Given the description of an element on the screen output the (x, y) to click on. 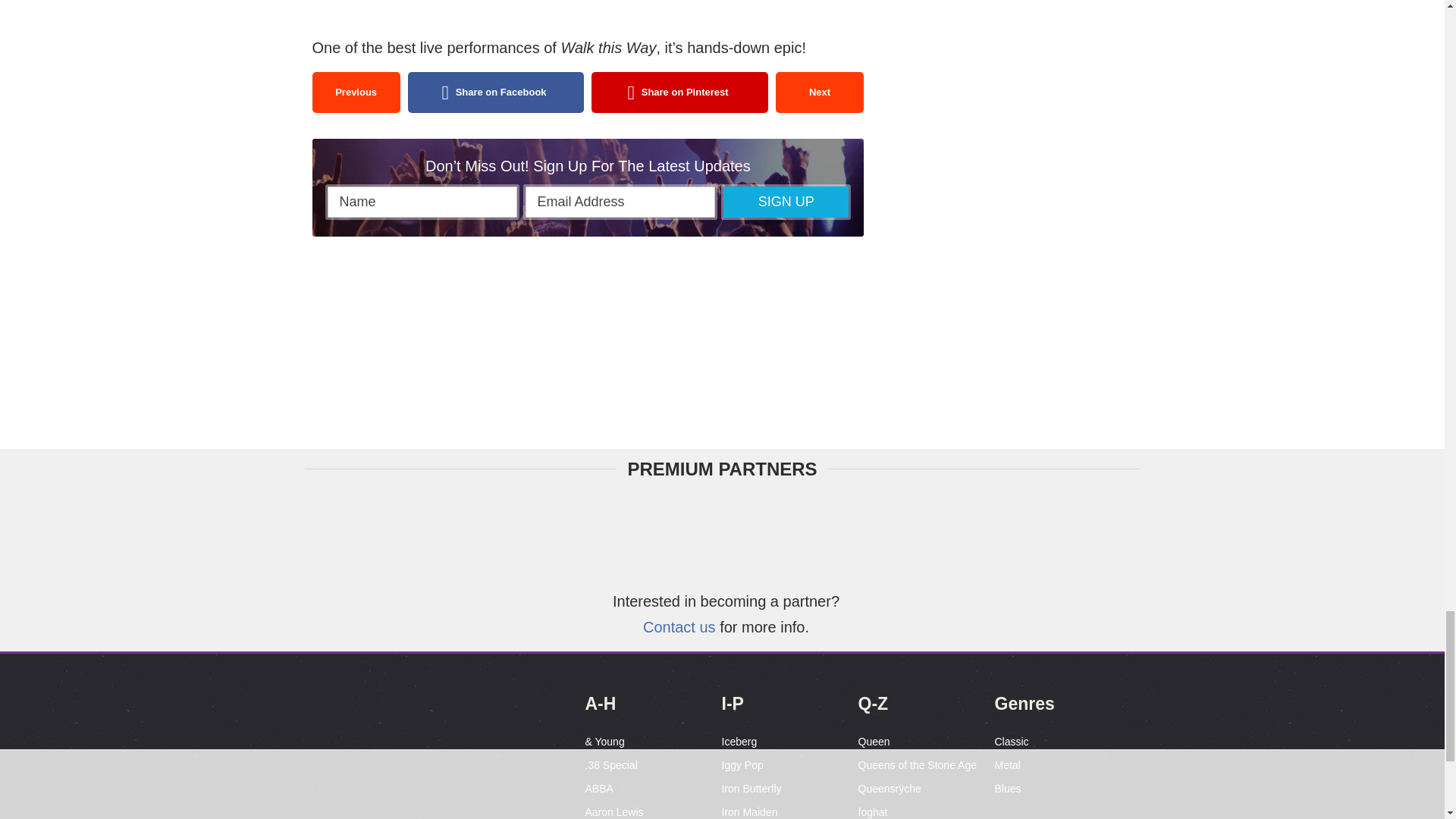
Share on Pinterest (679, 92)
Sign Up (785, 201)
